Given the description of an element on the screen output the (x, y) to click on. 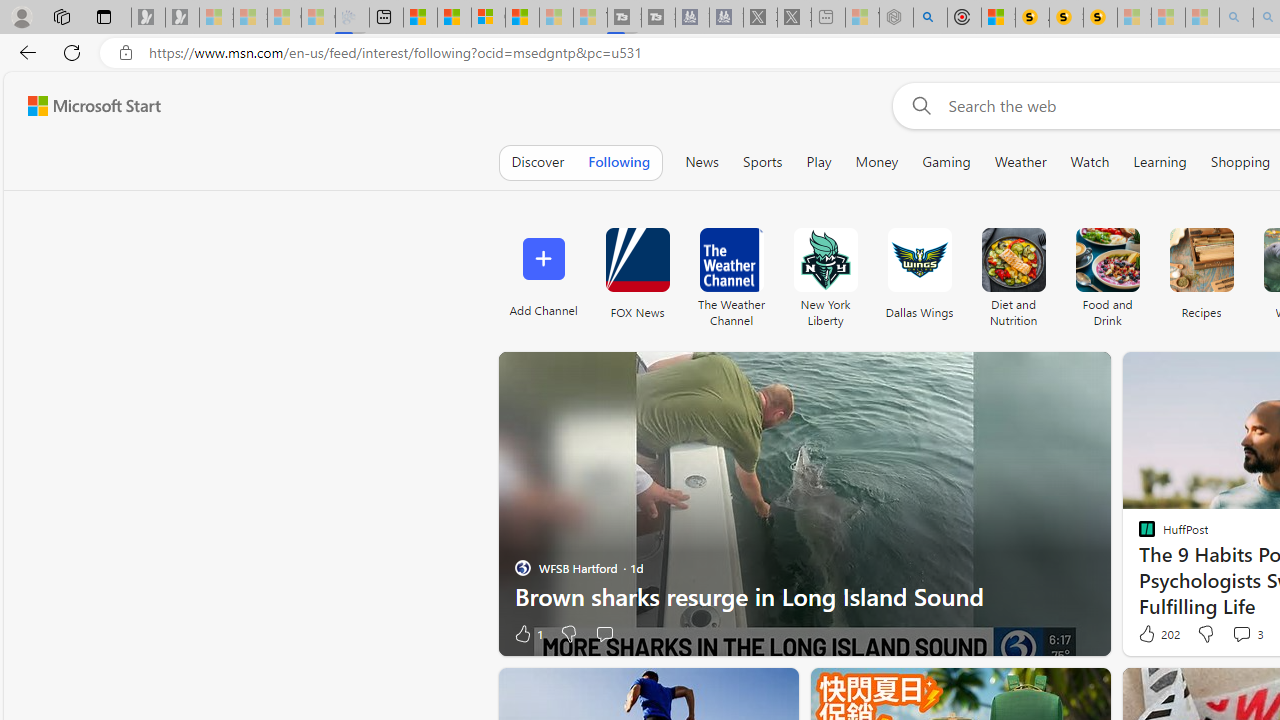
The Weather Channel (731, 272)
Shopping (1240, 161)
Recipes (1200, 260)
Diet and Nutrition (1012, 272)
Newsletter Sign Up - Sleeping (182, 17)
Recipes (1200, 272)
The Weather Channel (731, 260)
